Given the description of an element on the screen output the (x, y) to click on. 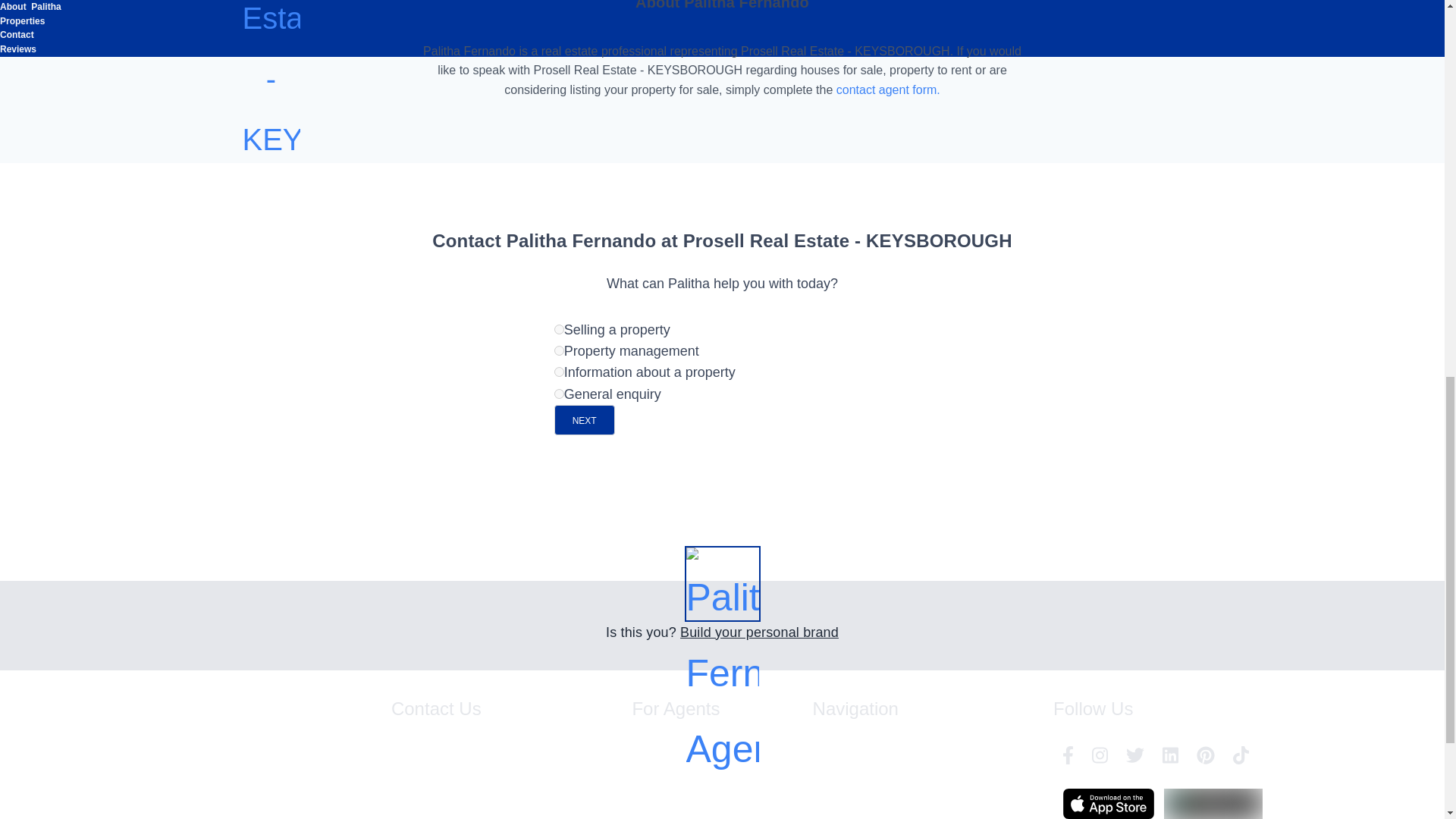
Privacy (906, 774)
Realty Tiktok (1240, 755)
About Us (911, 801)
NEXT (584, 419)
Advertising (654, 801)
Realty Facebook (1067, 755)
contact agent form. (887, 89)
Log In (643, 748)
Realty LinkedIn (1170, 755)
